Given the description of an element on the screen output the (x, y) to click on. 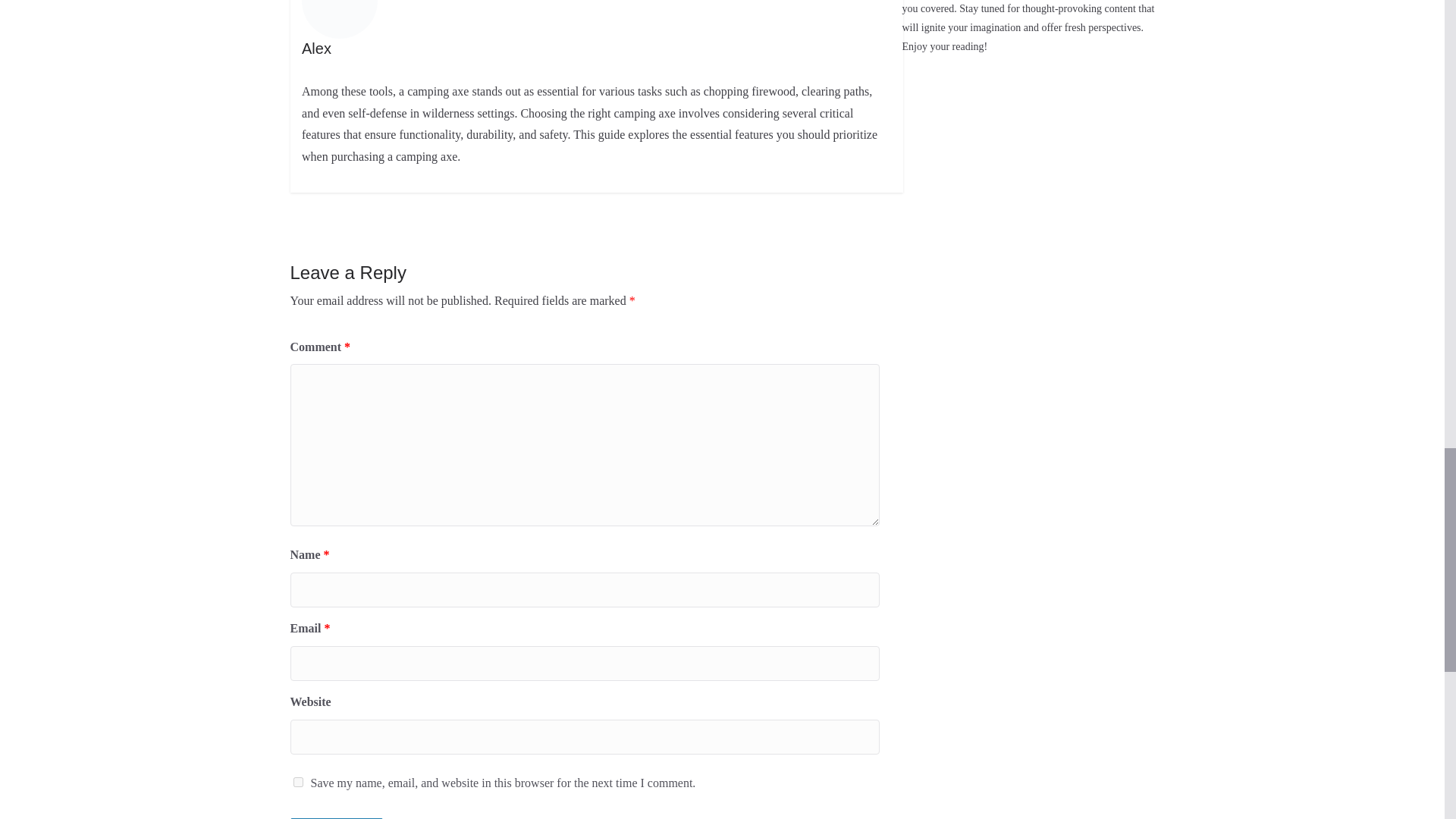
yes (297, 782)
